Given the description of an element on the screen output the (x, y) to click on. 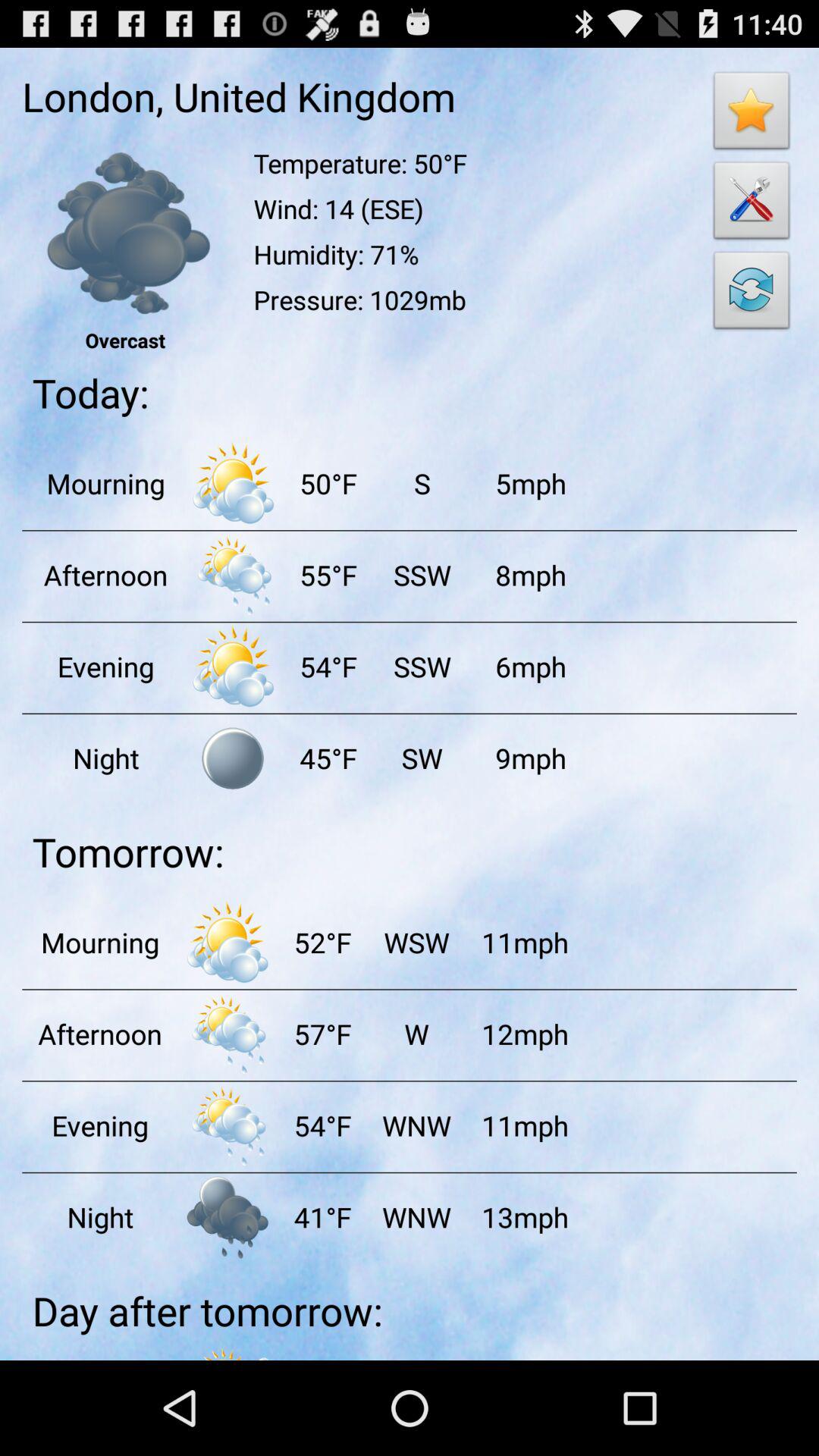
rainy day (227, 1033)
